Given the description of an element on the screen output the (x, y) to click on. 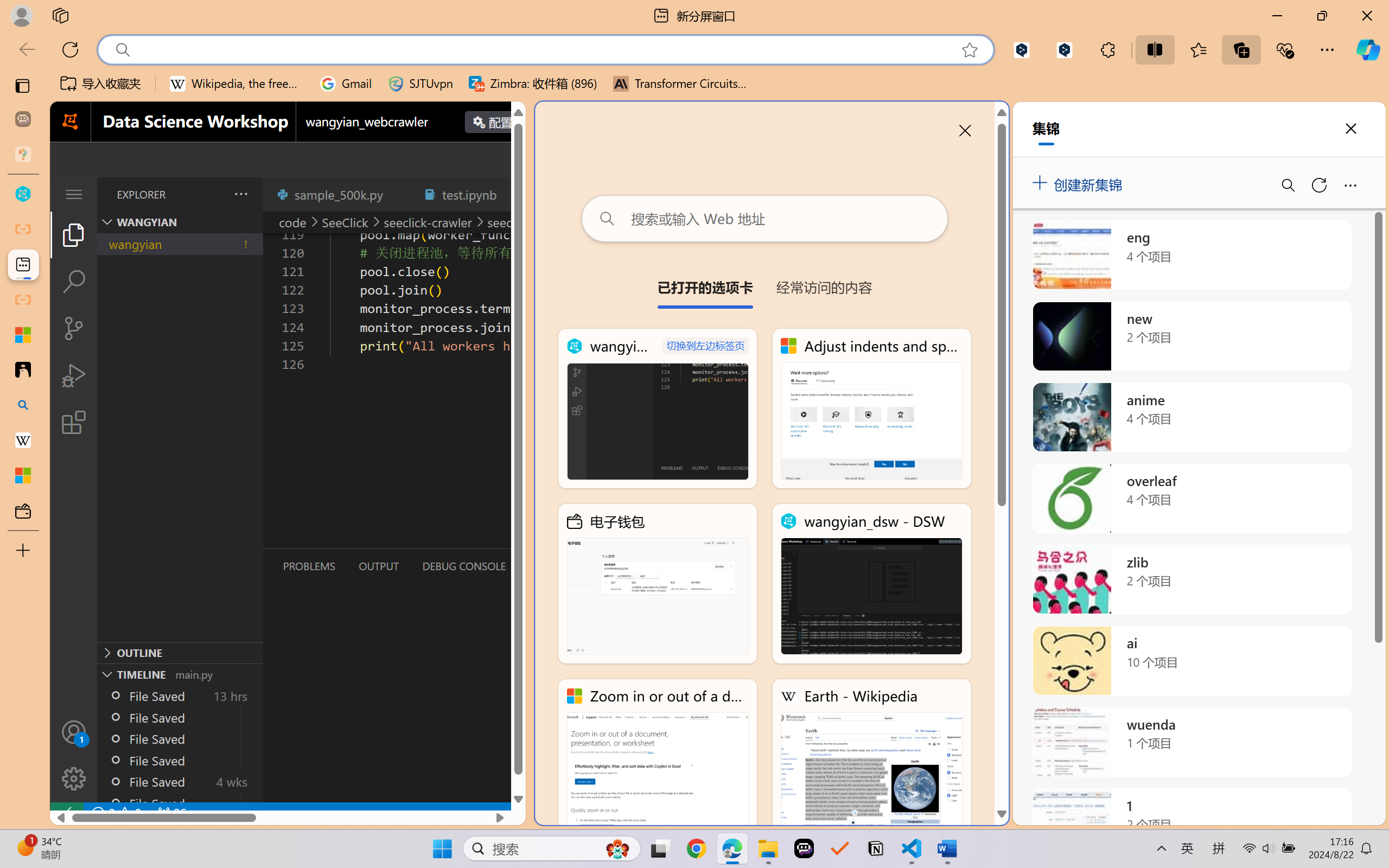
Explorer actions (212, 194)
Terminal (Ctrl+`) (553, 565)
wangyian_dsw - DSW (22, 194)
Run and Debug (Ctrl+Shift+D) (73, 375)
Outline Section (179, 652)
Wikipedia, the free encyclopedia (236, 83)
Problems (Ctrl+Shift+M) (308, 565)
Views and More Actions... (240, 193)
